Given the description of an element on the screen output the (x, y) to click on. 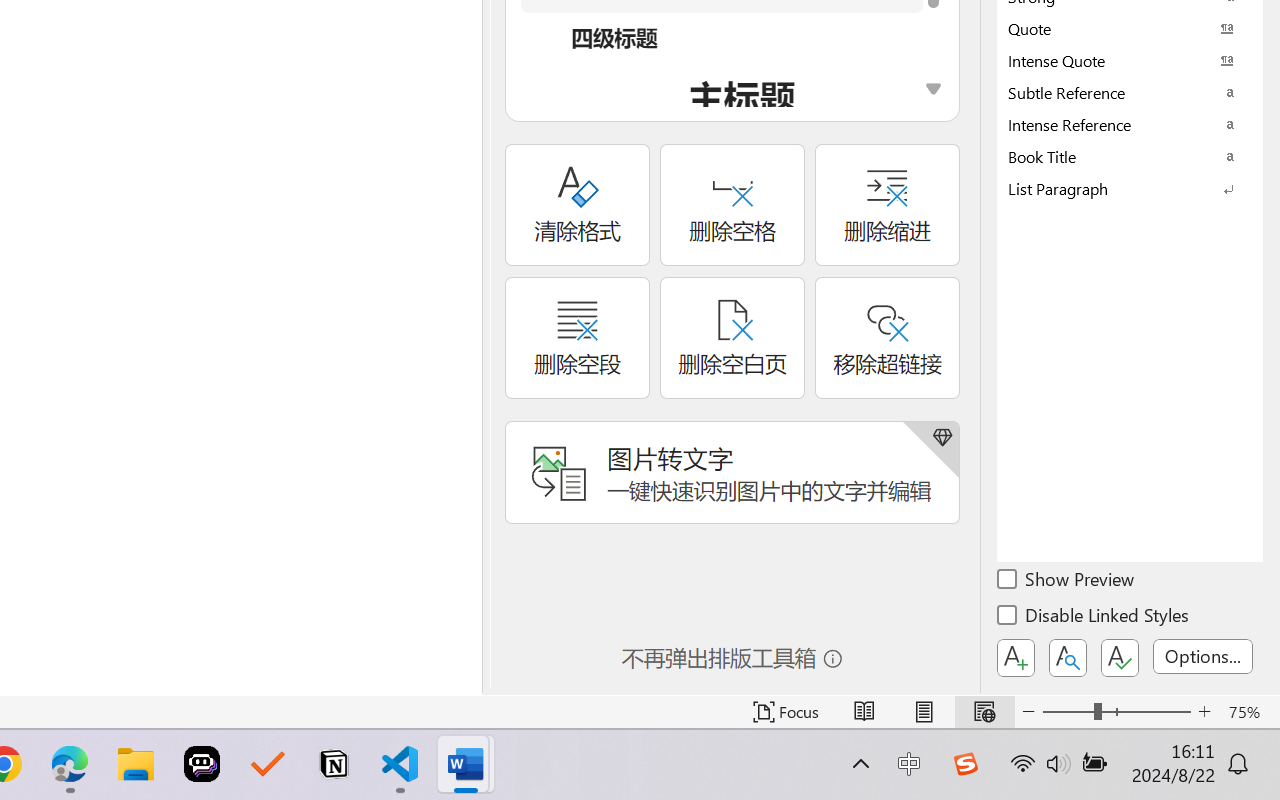
Intense Reference (1130, 124)
Quote (1130, 28)
Zoom (1116, 712)
